Given the description of an element on the screen output the (x, y) to click on. 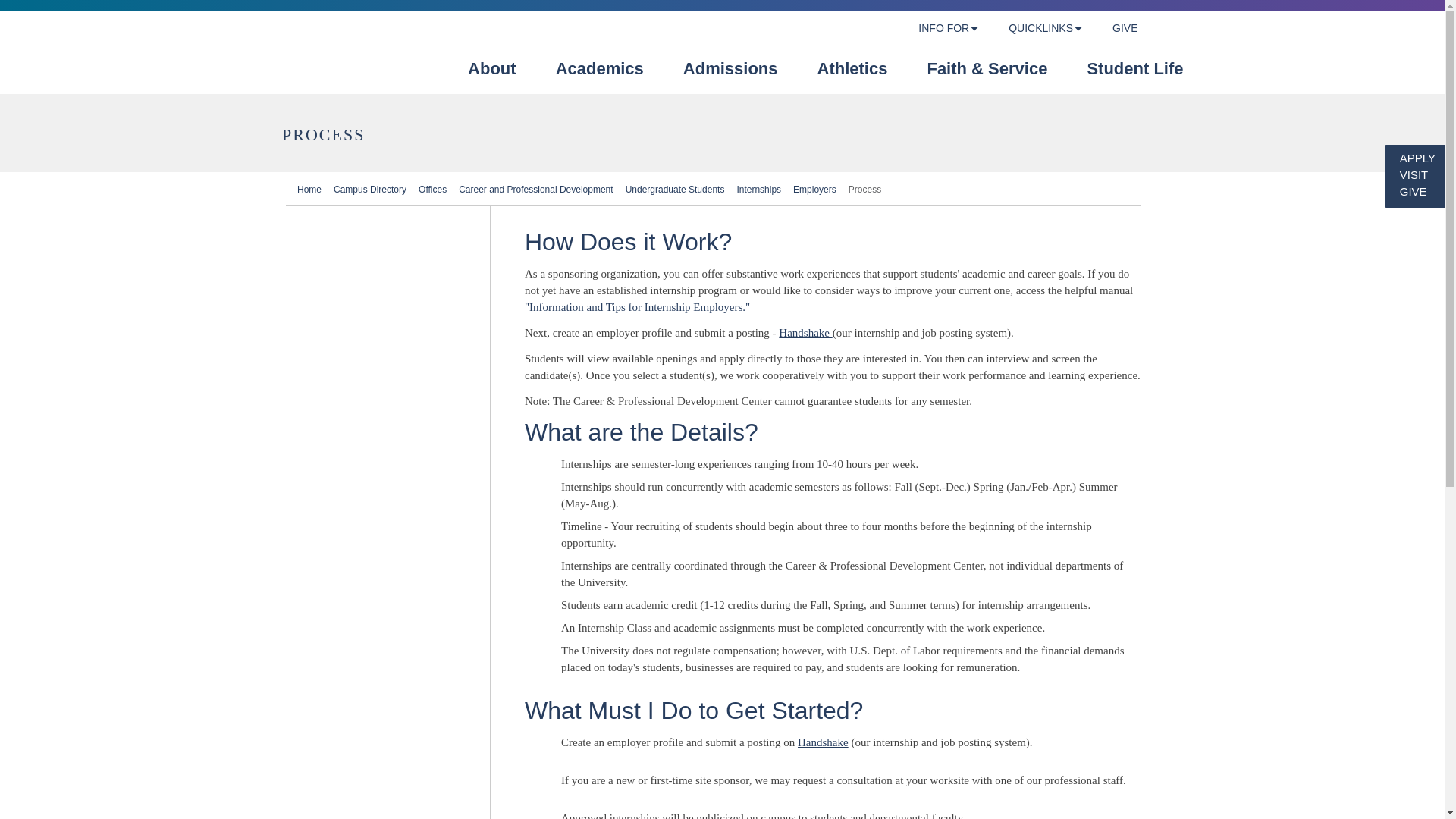
GIVE (1124, 28)
QUICKLINKS (1041, 28)
search (1176, 29)
About (491, 72)
INFO FOR (943, 28)
